Given the description of an element on the screen output the (x, y) to click on. 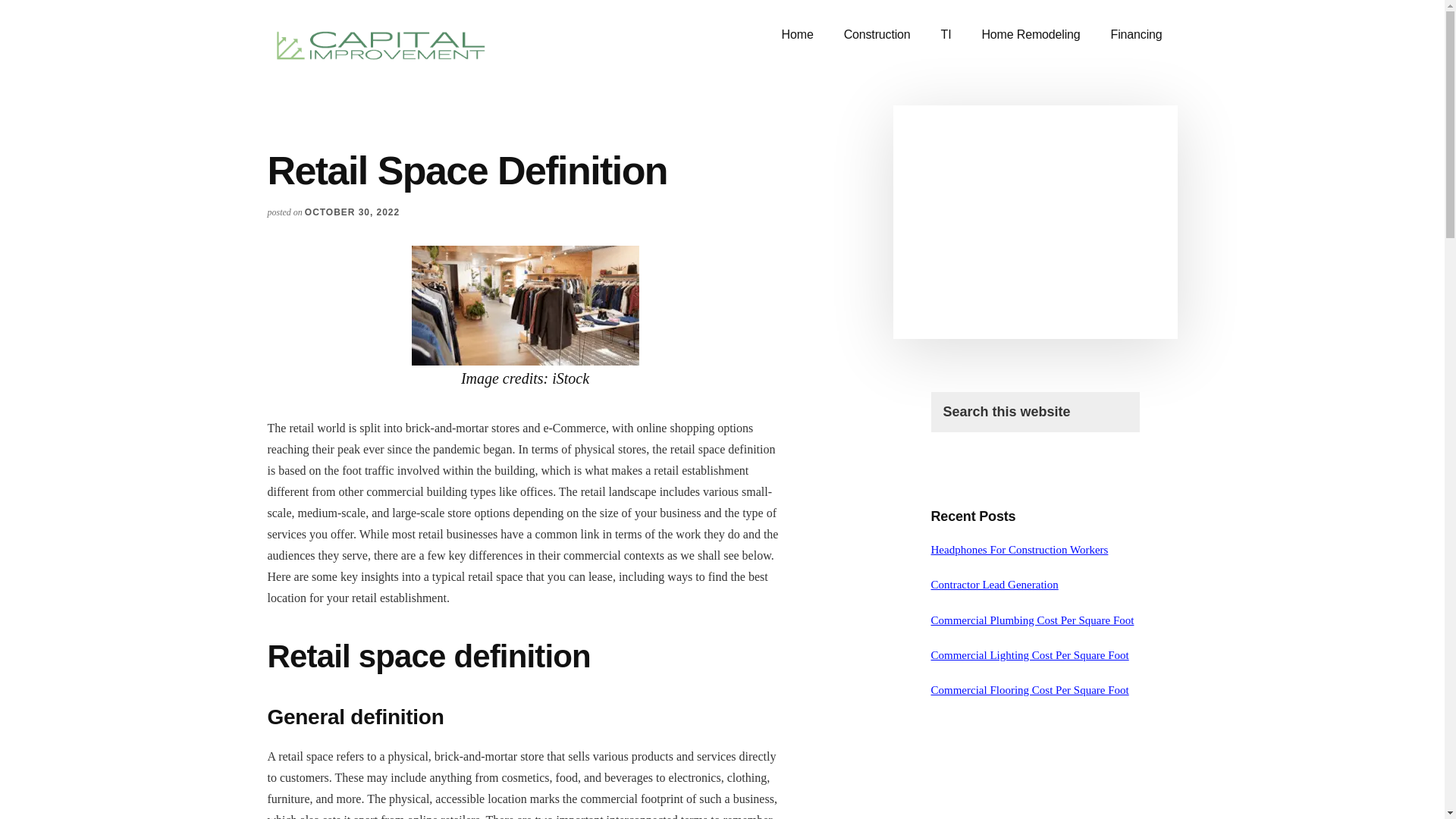
TI (946, 34)
Home Remodeling (1030, 34)
Financing (1136, 34)
Construction (877, 34)
Commercial Plumbing Cost Per Square Foot (1032, 620)
Home (797, 34)
